Given the description of an element on the screen output the (x, y) to click on. 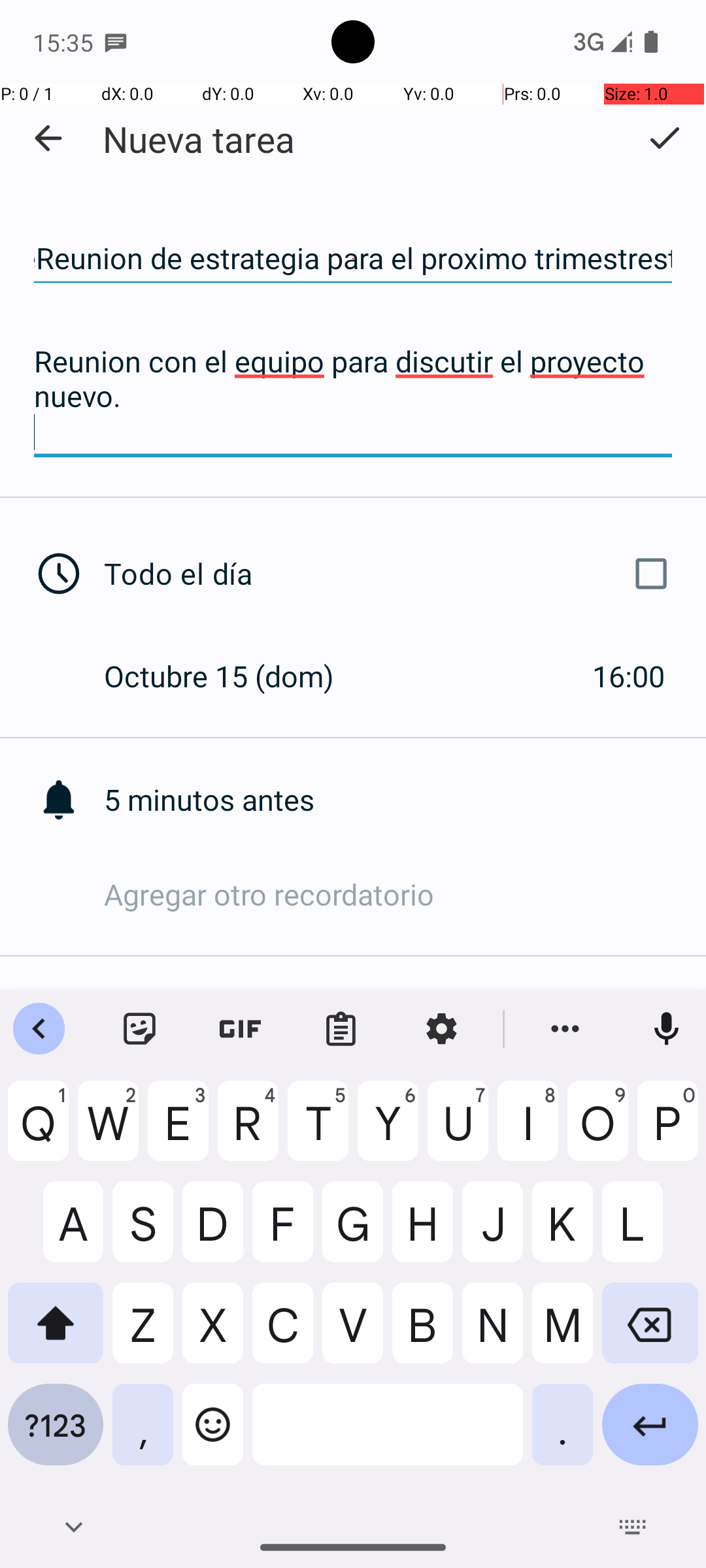
Nueva tarea Element type: android.widget.TextView (198, 138)
Reunion de planeacion eReunion de estrategia para el proximo trimestrestrategica Element type: android.widget.EditText (352, 258)
Reunion con el equipo para discutir el proyecto nuevo.
 Element type: android.widget.EditText (352, 396)
5 minutos antes Element type: android.widget.TextView (404, 798)
